Given the description of an element on the screen output the (x, y) to click on. 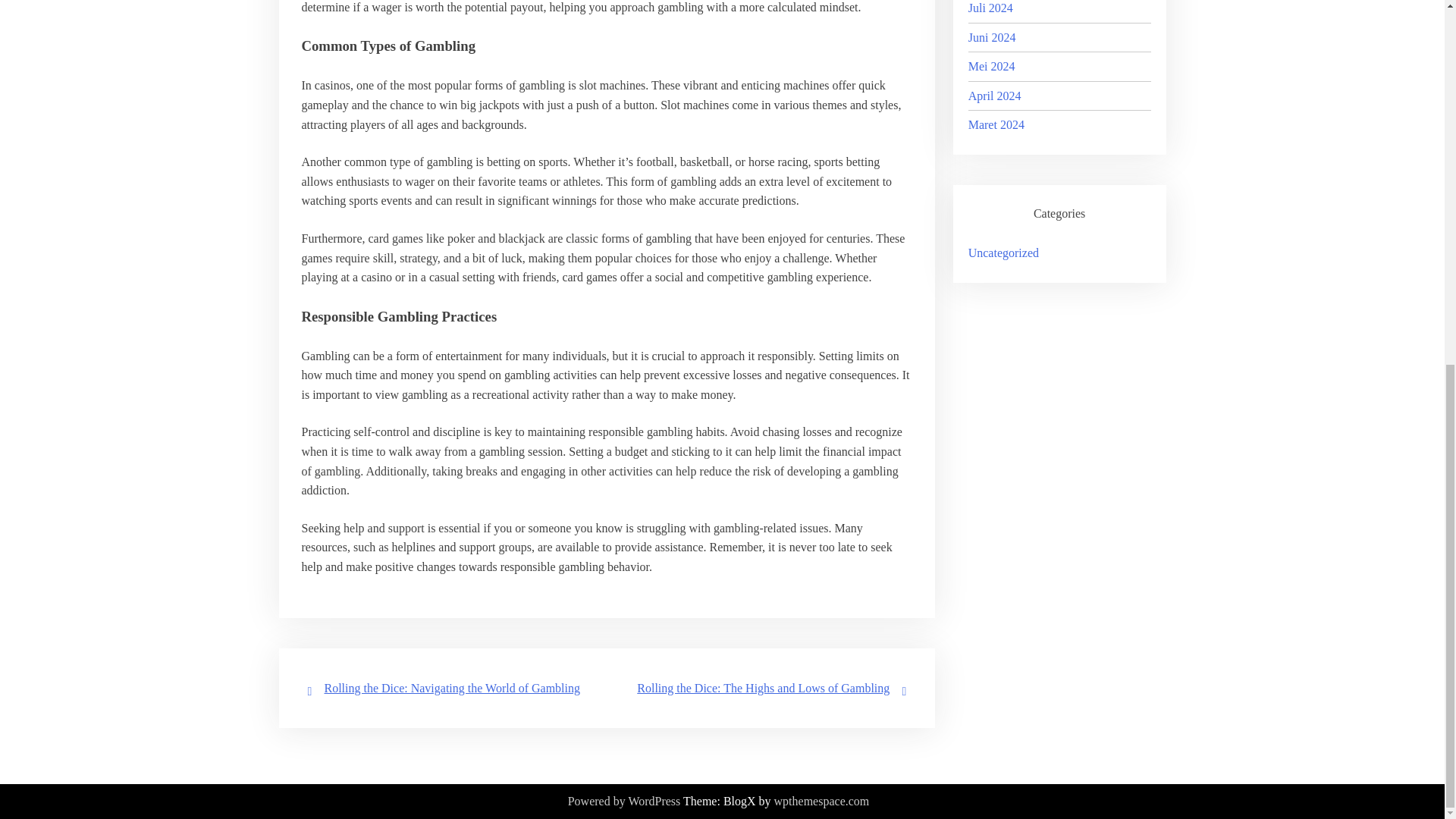
Uncategorized (1003, 252)
Powered by WordPress (624, 801)
Maret 2024 (996, 124)
Rolling the Dice: The Highs and Lows of Gambling (763, 687)
Rolling the Dice: Navigating the World of Gambling (451, 687)
wpthemespace.com (821, 801)
Juni 2024 (992, 36)
Juli 2024 (990, 7)
April 2024 (995, 95)
Mei 2024 (991, 65)
